Given the description of an element on the screen output the (x, y) to click on. 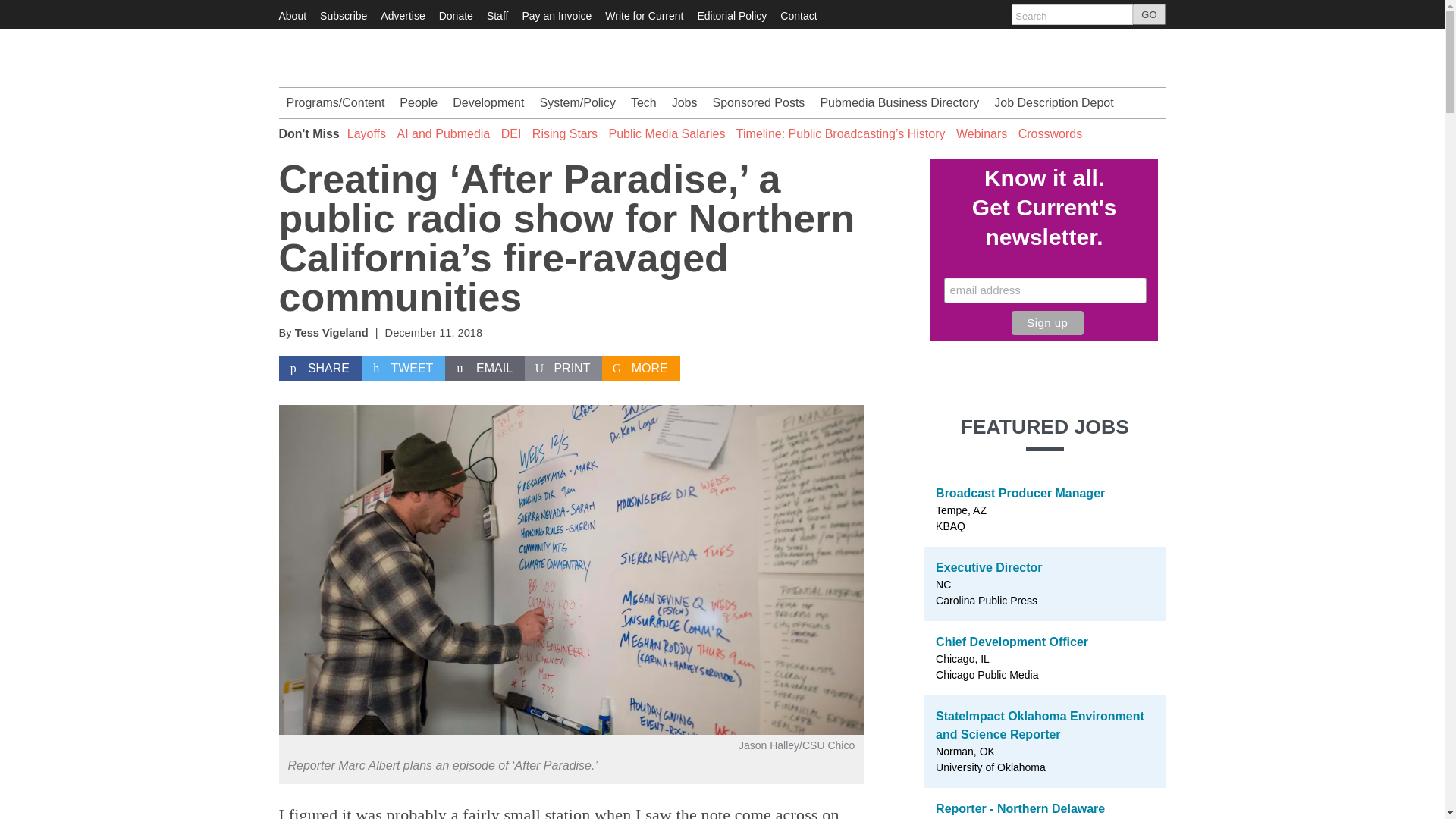
Write for Current (643, 15)
About (293, 15)
Advertise (402, 15)
Pay an Invoice (556, 15)
People (418, 102)
Print this article (563, 368)
Staff (497, 15)
GO (1149, 14)
Sign up (1047, 322)
Donate (456, 15)
